Given the description of an element on the screen output the (x, y) to click on. 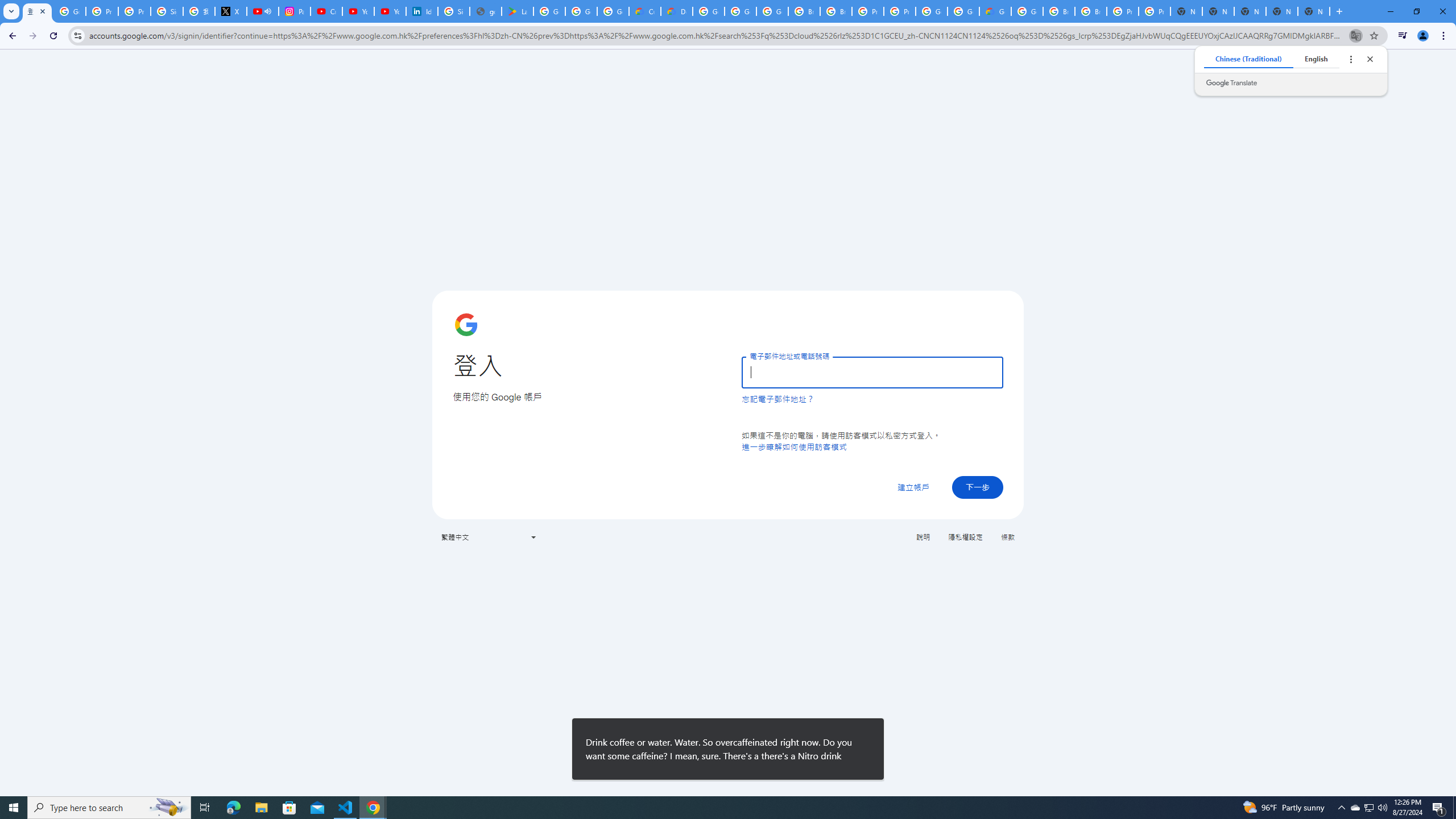
Google Cloud Platform (1027, 11)
Translate options (1349, 58)
English (1315, 58)
Browse Chrome as a guest - Computer - Google Chrome Help (836, 11)
Privacy Help Center - Policies Help (134, 11)
Sign in - Google Accounts (166, 11)
google_privacy_policy_en.pdf (485, 11)
Customer Care | Google Cloud (644, 11)
